Given the description of an element on the screen output the (x, y) to click on. 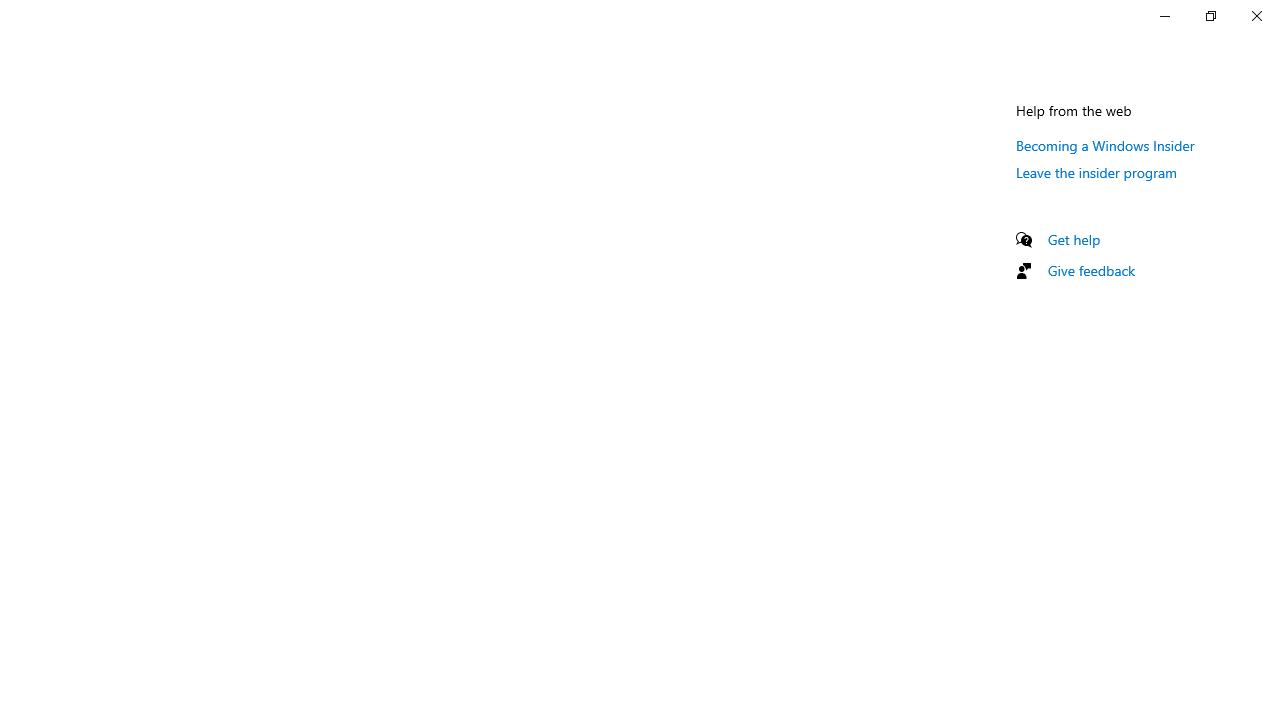
Leave the insider program (1096, 172)
Becoming a Windows Insider (1105, 145)
